Given the description of an element on the screen output the (x, y) to click on. 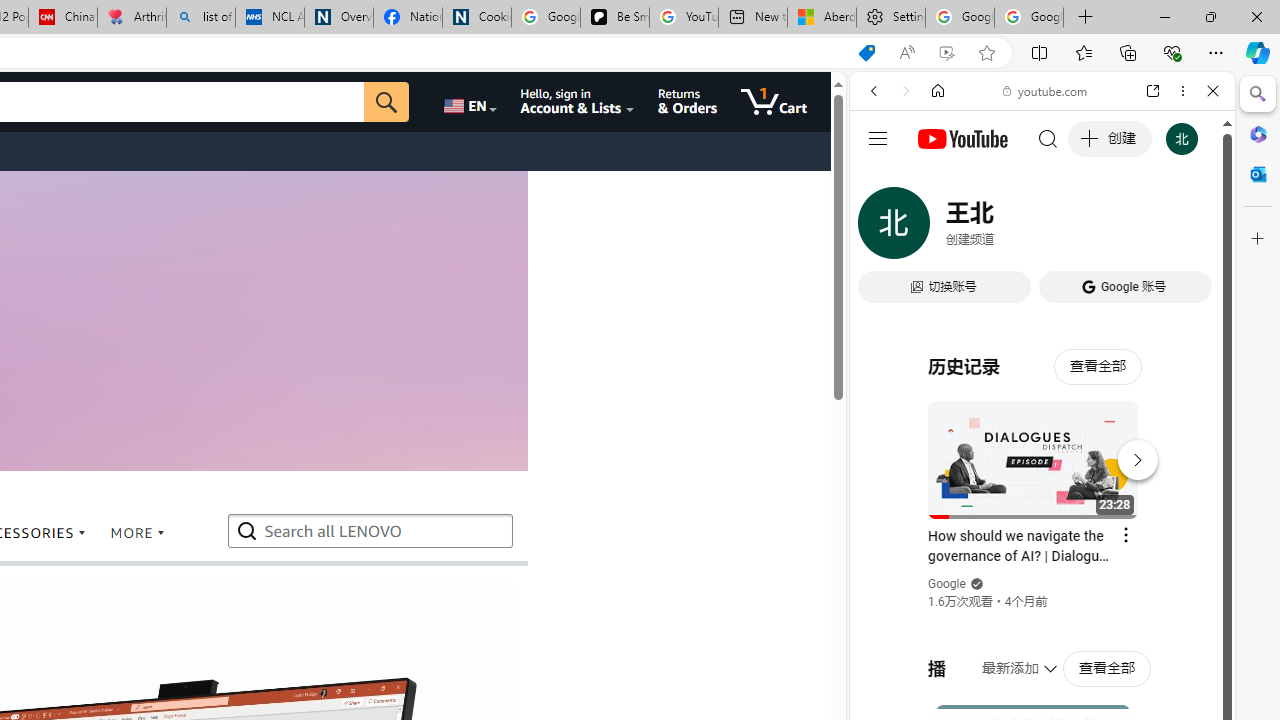
Show More Music (1164, 546)
1 item in cart (774, 101)
youtube.com (1046, 90)
Cookies (476, 17)
